Given the description of an element on the screen output the (x, y) to click on. 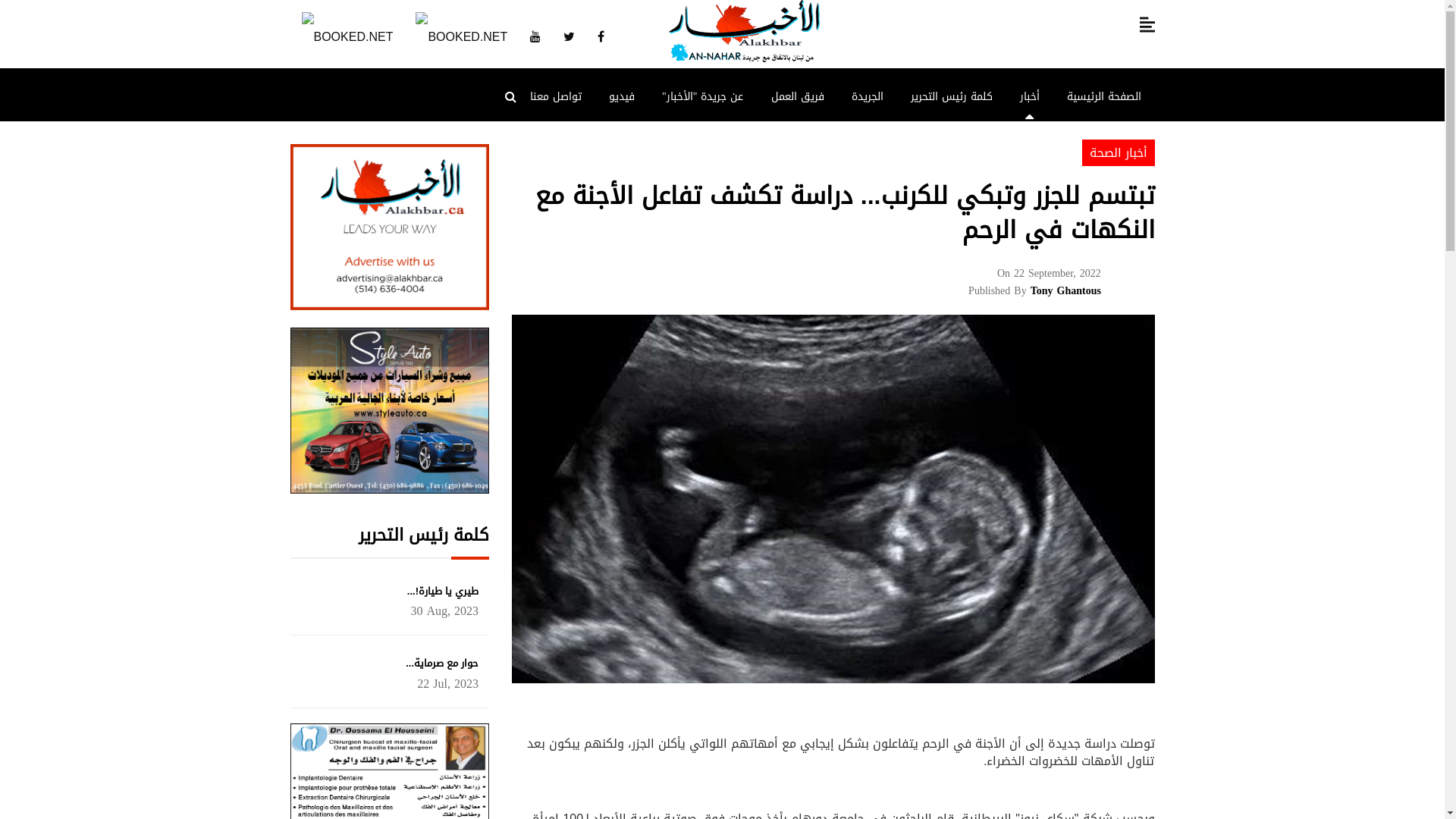
Tony Ghantous Element type: text (1065, 290)
